Given the description of an element on the screen output the (x, y) to click on. 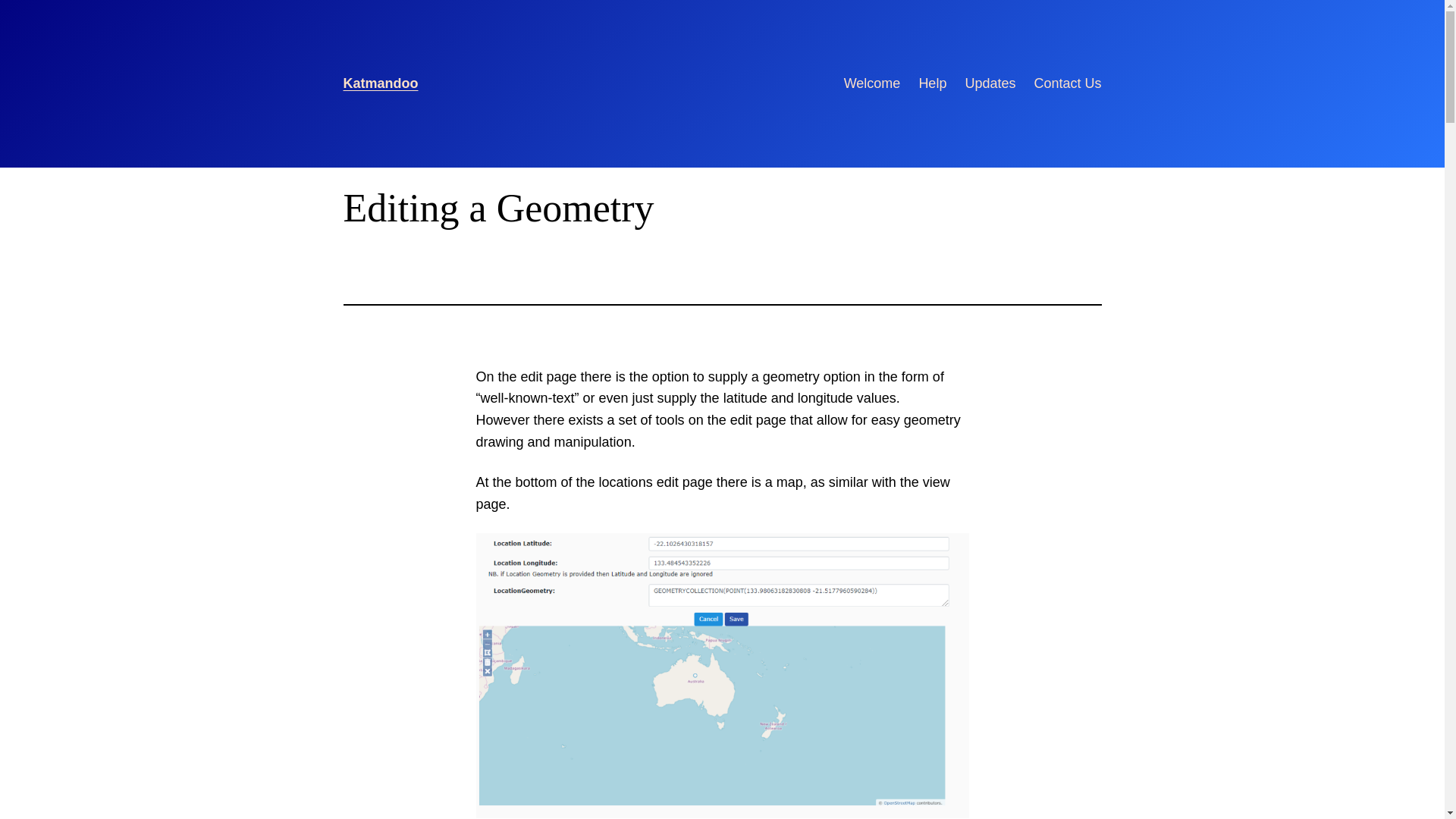
Welcome Element type: text (872, 83)
Katmandoo Element type: text (379, 83)
Help Element type: text (932, 83)
Contact Us Element type: text (1067, 83)
Updates Element type: text (989, 83)
